Given the description of an element on the screen output the (x, y) to click on. 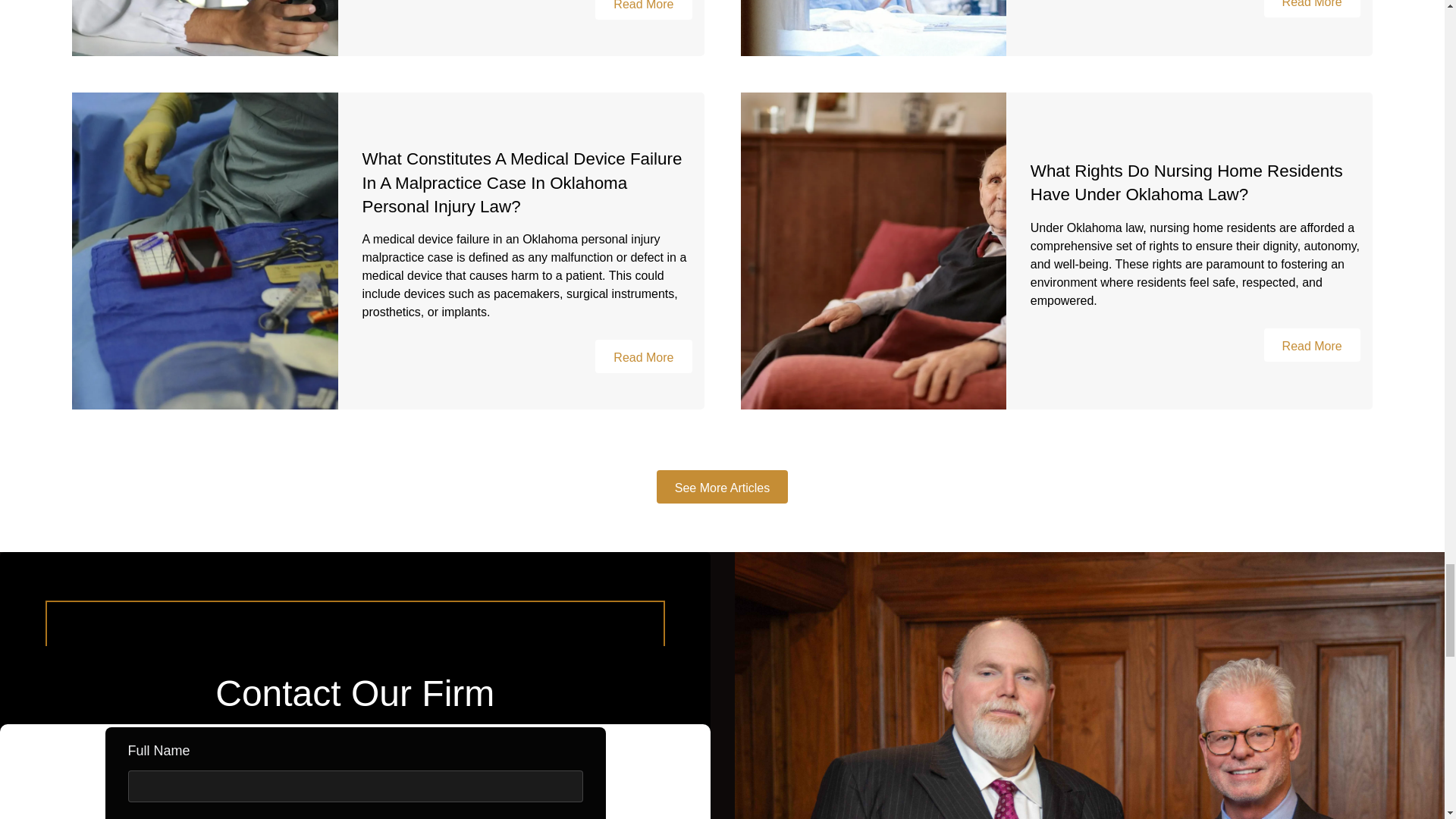
Read More (643, 9)
nkyHqmcTZWus (355, 771)
